Given the description of an element on the screen output the (x, y) to click on. 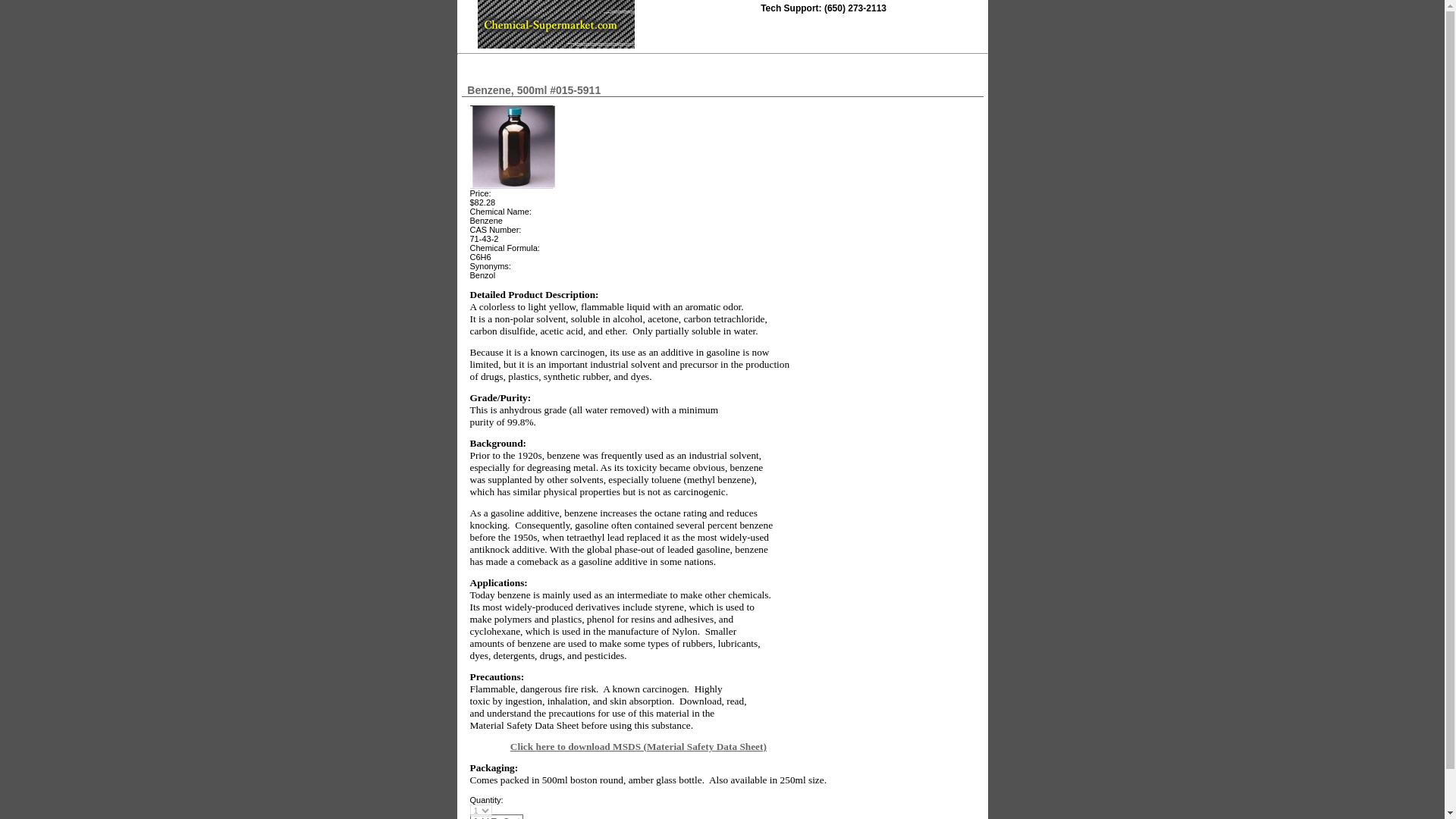
Add To Cart (496, 816)
